Given the description of an element on the screen output the (x, y) to click on. 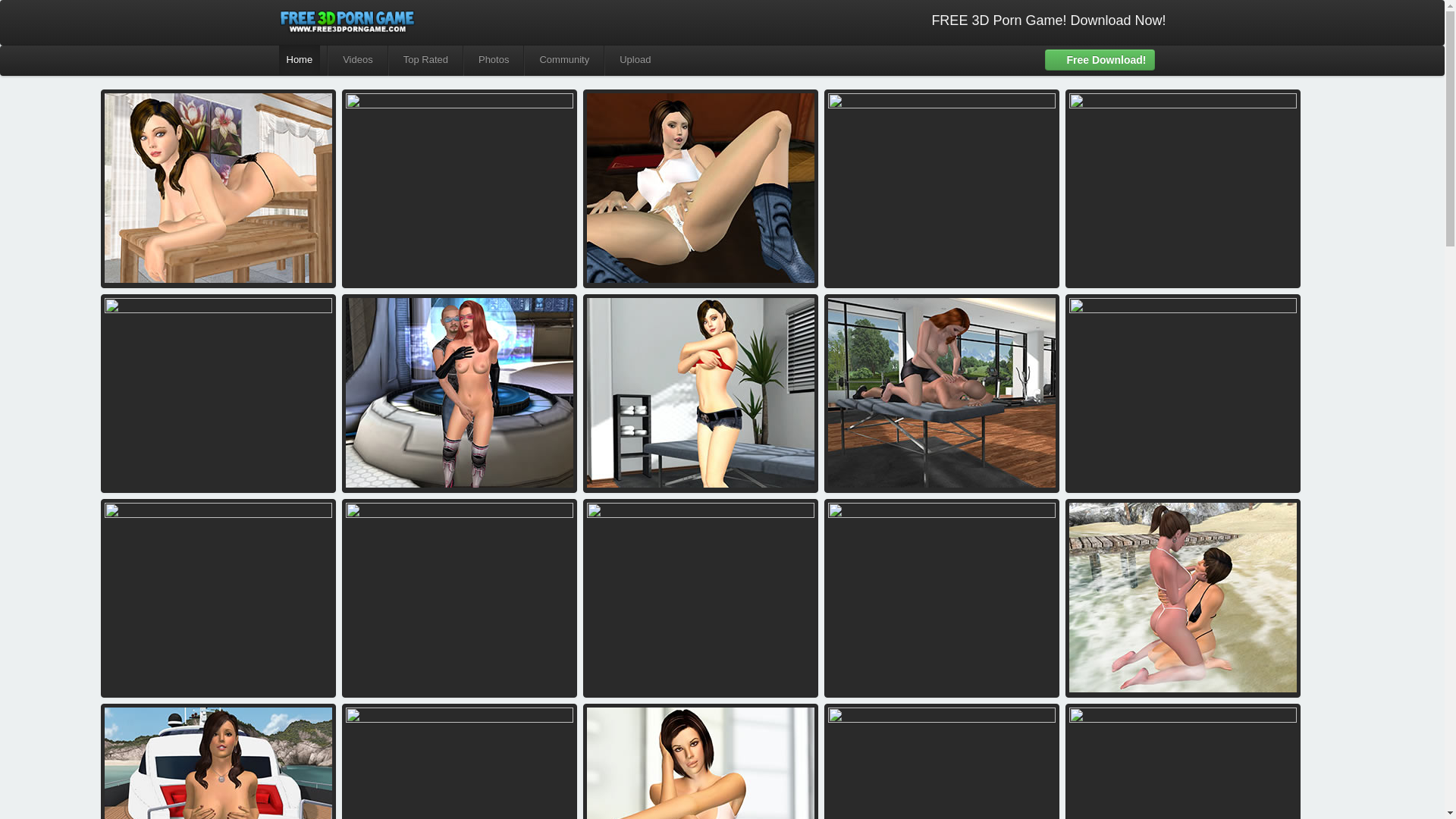
Home (299, 60)
Free Download! (1099, 59)
Photos (493, 60)
Top Rated (425, 60)
Community (563, 60)
Videos (357, 60)
Upload (634, 60)
